Given the description of an element on the screen output the (x, y) to click on. 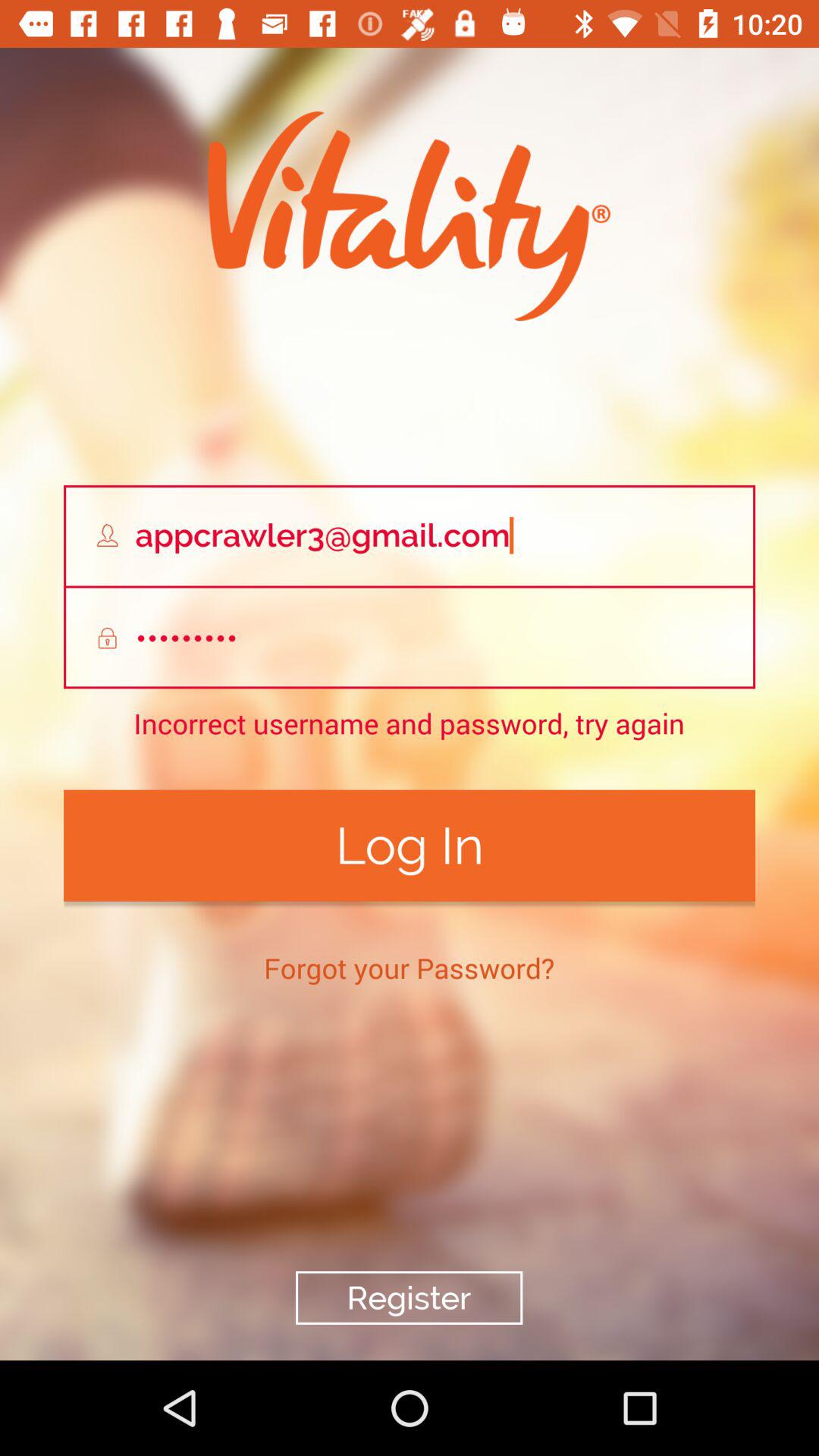
select the icon below forgot your password? icon (408, 1297)
